Given the description of an element on the screen output the (x, y) to click on. 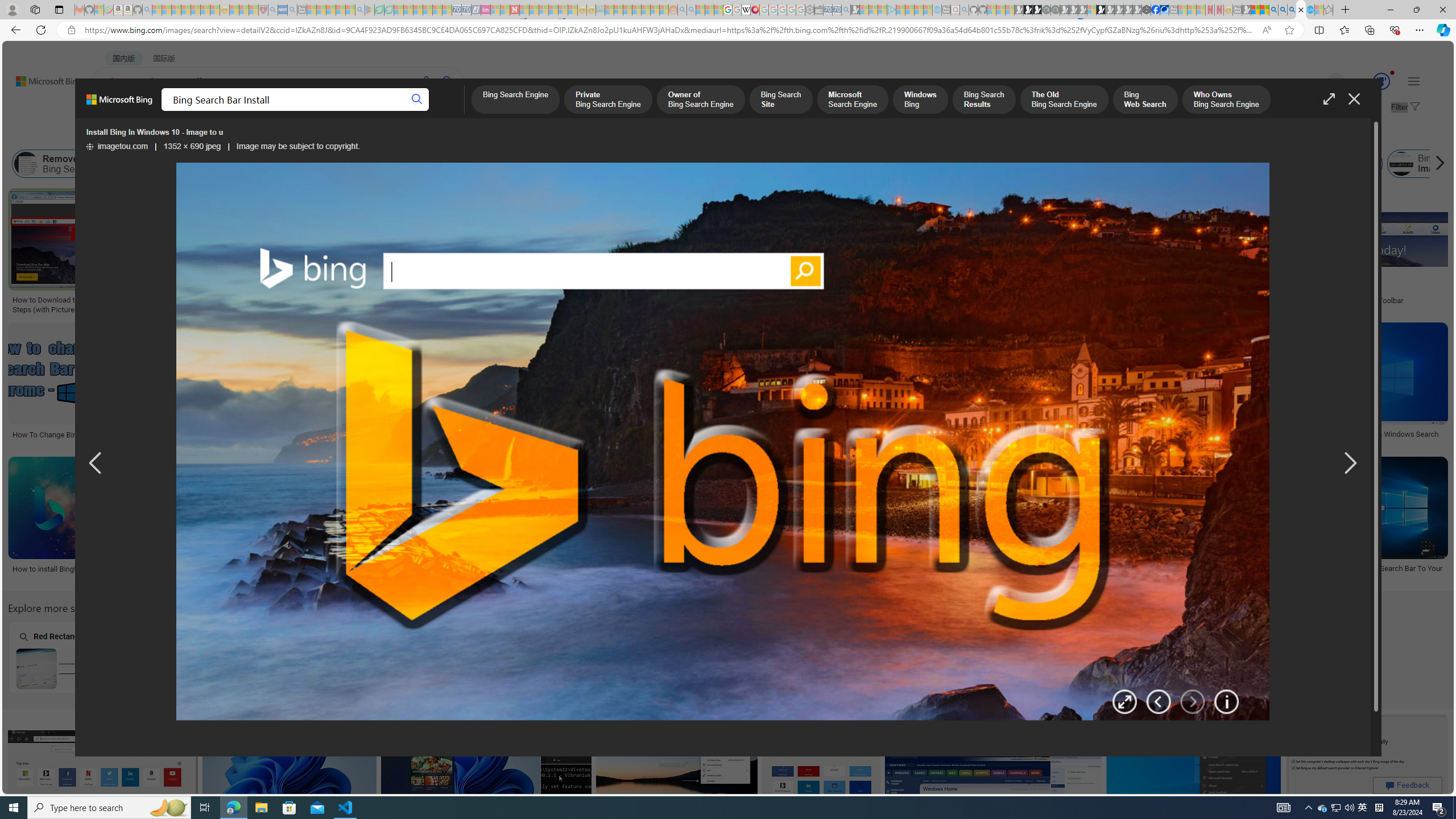
How to Use Bing Visual Search on Windows Search BarSave (437, 521)
Special Characters (224, 656)
Image size (127, 135)
1:46 (895, 198)
How to Use Bing Visual Search on Windows Search Bar (436, 573)
Bing Search Bar Settings (470, 163)
